Given the description of an element on the screen output the (x, y) to click on. 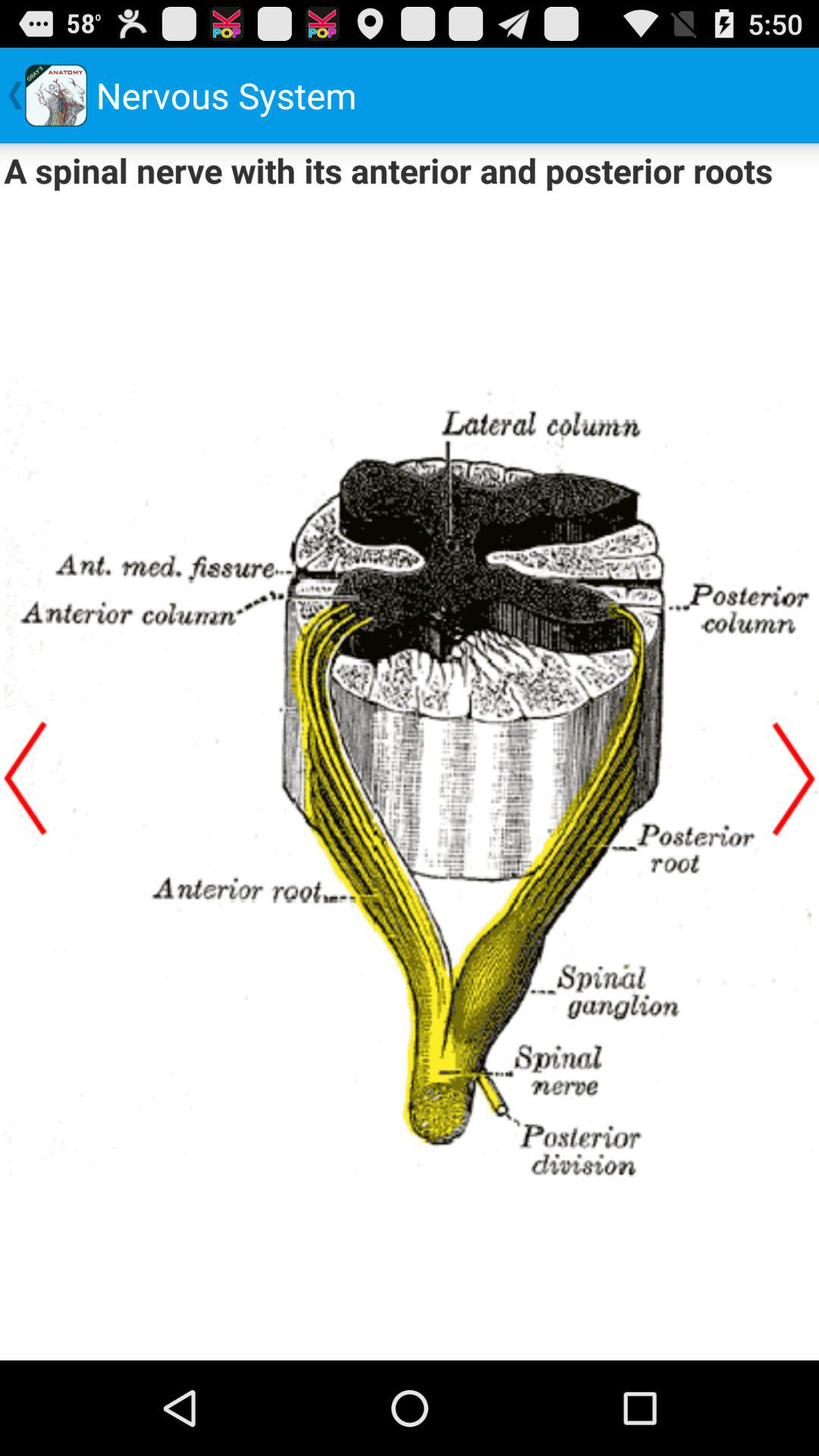
go forward (793, 778)
